Given the description of an element on the screen output the (x, y) to click on. 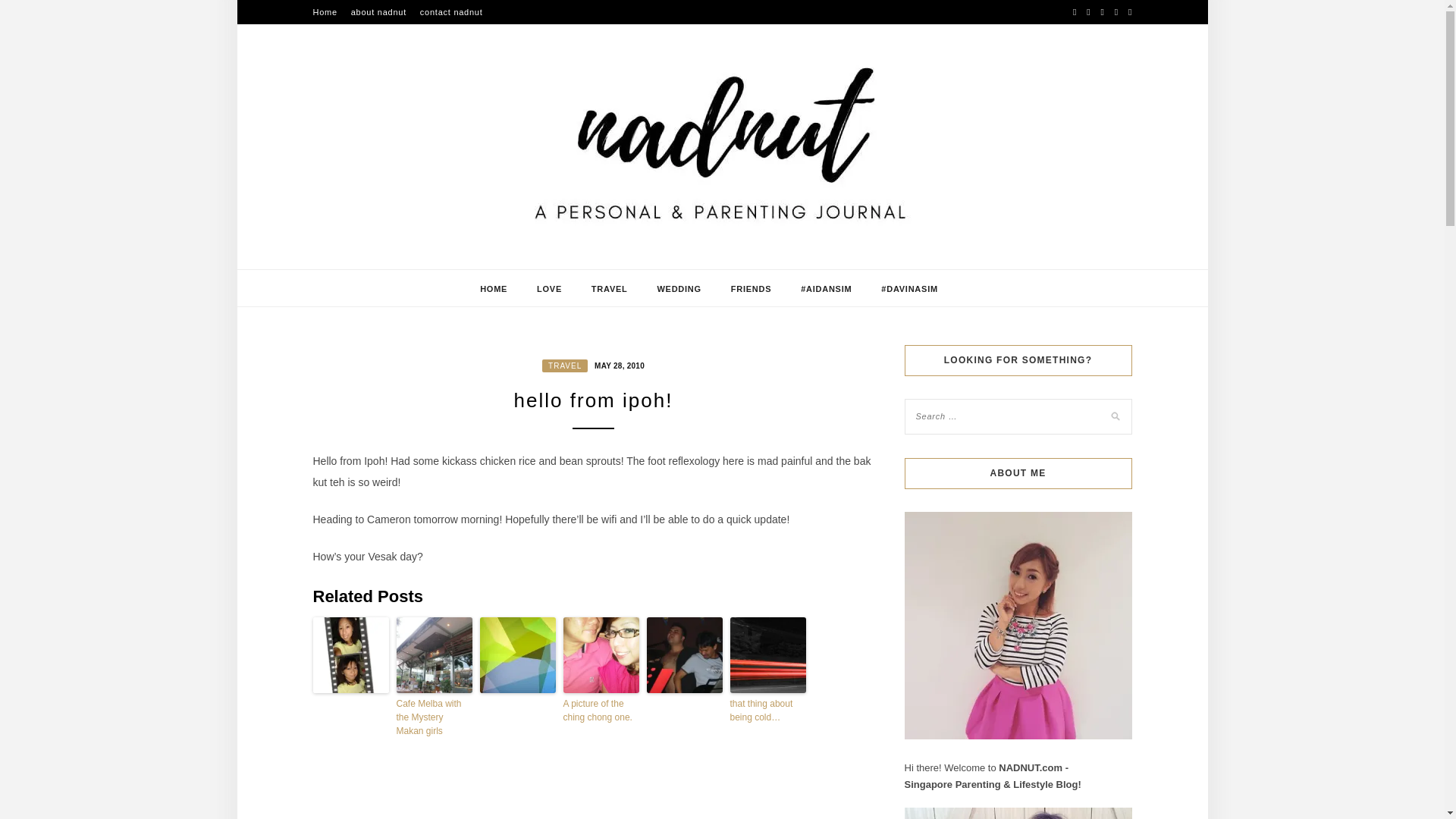
about nadnut (378, 12)
Home (324, 12)
Cafe Melba with the Mystery Makan girls (433, 716)
WEDDING (678, 288)
TRAVEL (564, 365)
contact nadnut (451, 12)
FRIENDS (750, 288)
TRAVEL (609, 288)
MAY 28, 2010 (618, 364)
A picture of the ching chong one. (600, 709)
